Given the description of an element on the screen output the (x, y) to click on. 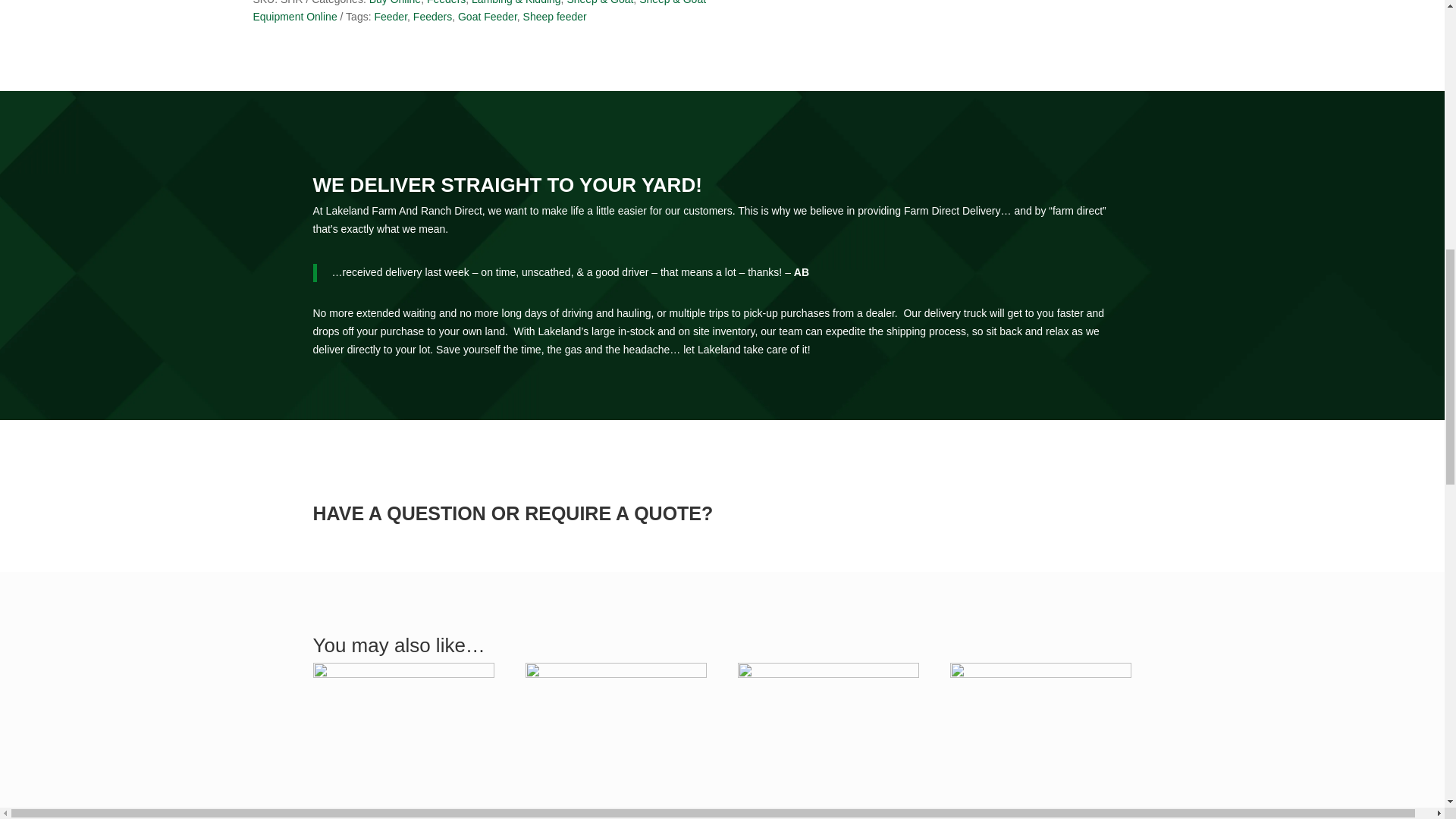
Feeders (445, 2)
Buy Online (394, 2)
